Given the description of an element on the screen output the (x, y) to click on. 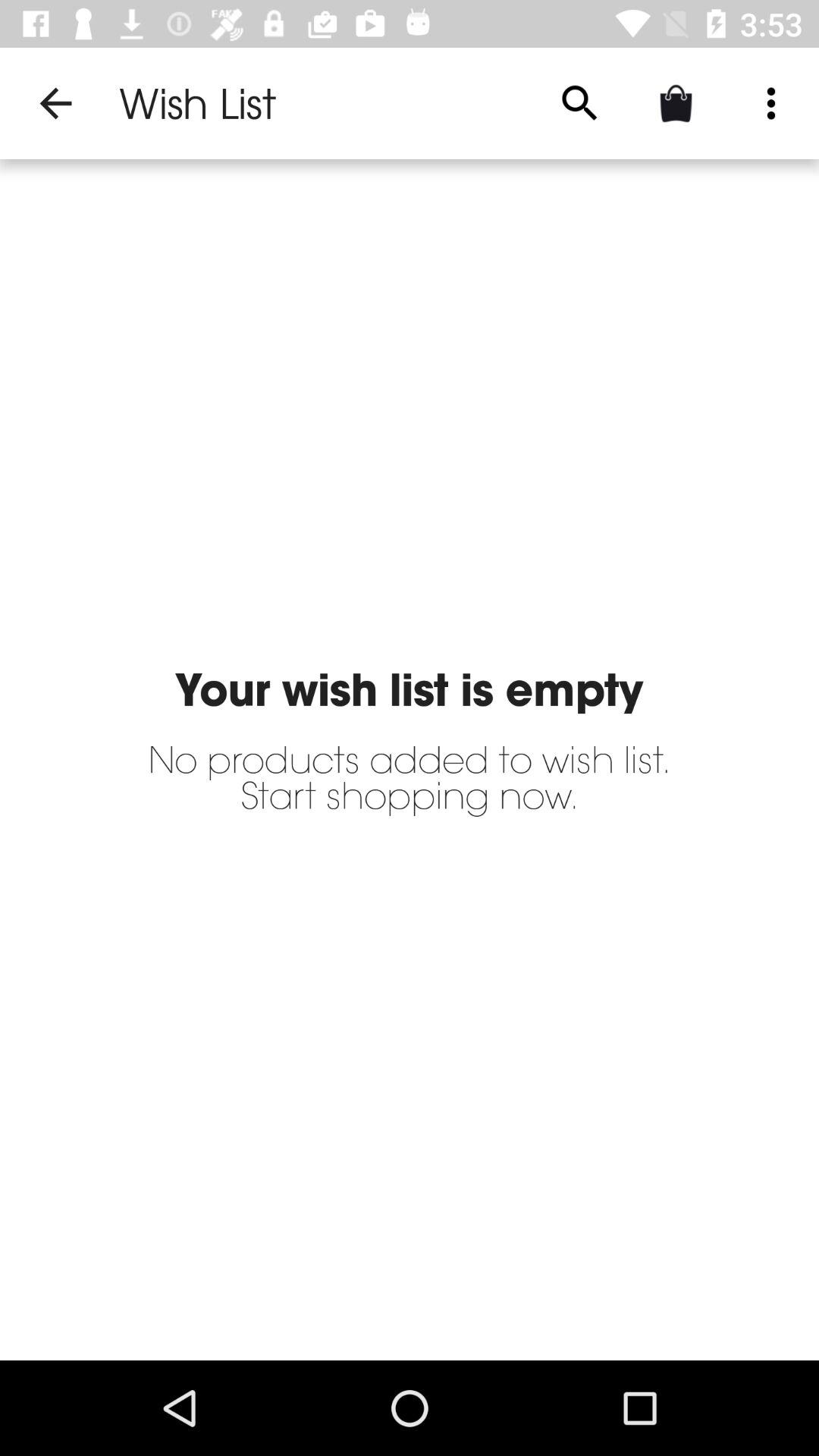
turn on item to the left of wish list (55, 103)
